Given the description of an element on the screen output the (x, y) to click on. 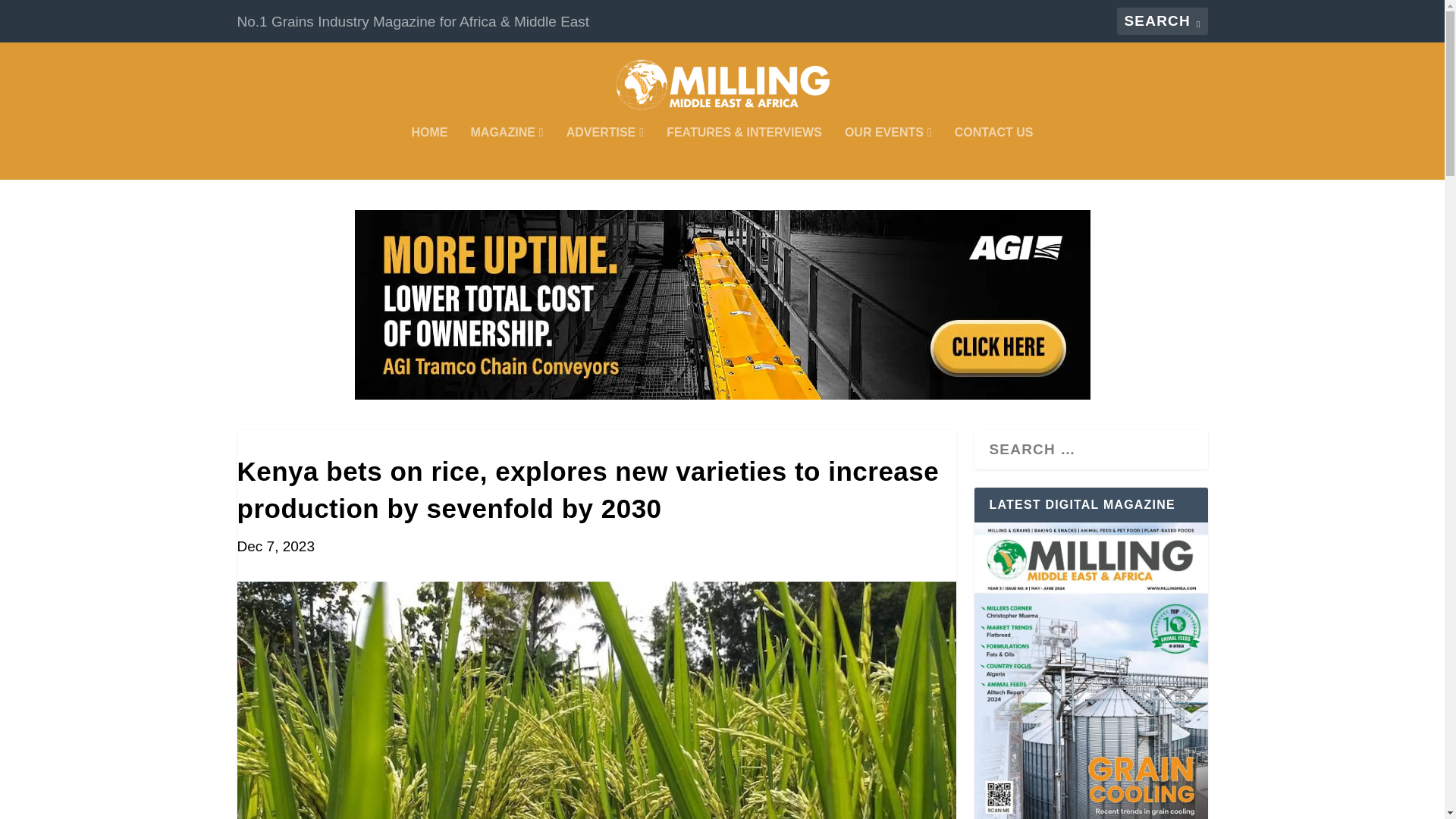
Search for: (1161, 21)
ADVERTISE (604, 152)
CONTACT US (994, 152)
OUR EVENTS (887, 152)
MAGAZINE (506, 152)
